Given the description of an element on the screen output the (x, y) to click on. 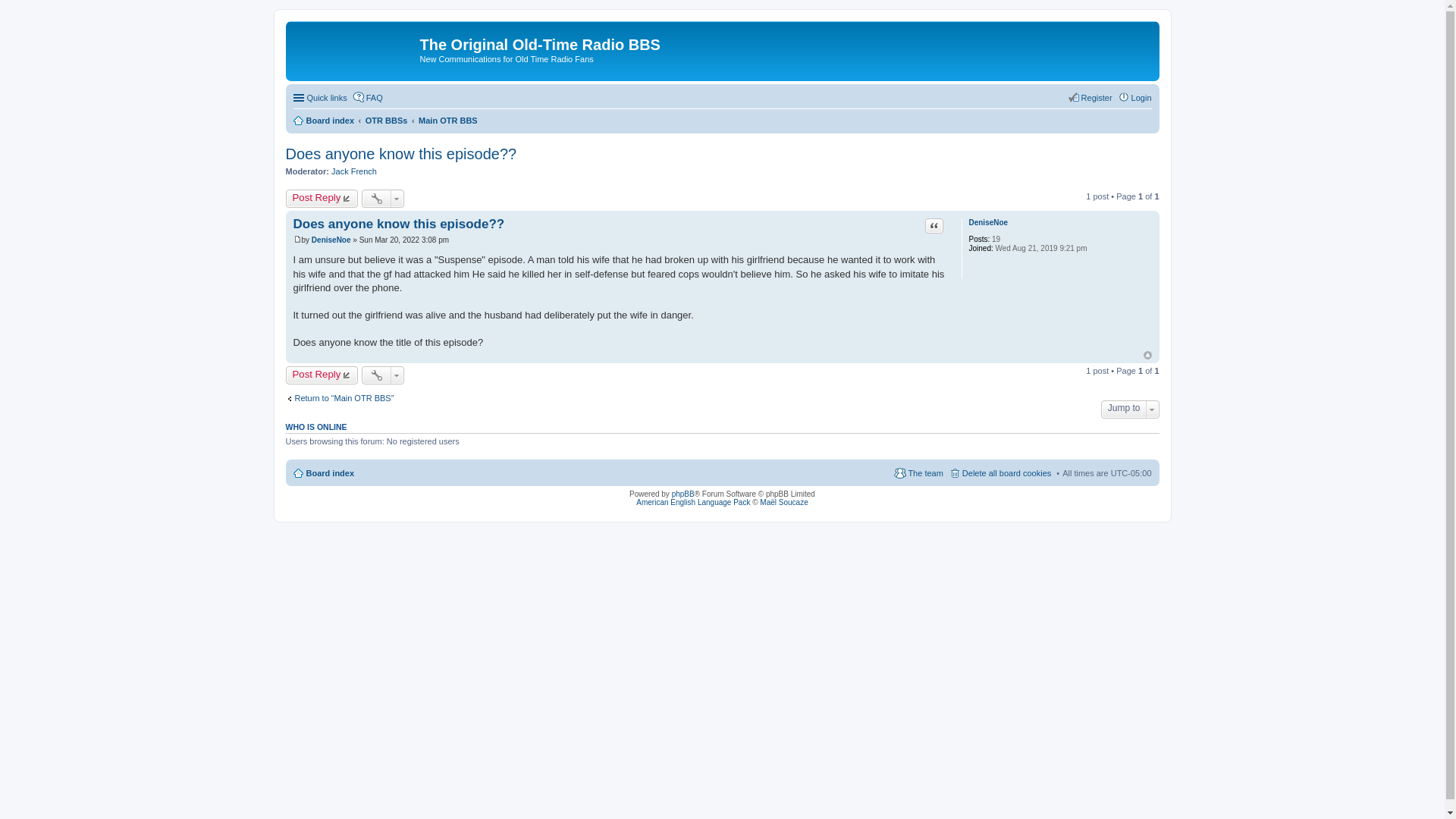
FAQ (367, 97)
Board index (354, 49)
Login (1134, 97)
Top (1146, 355)
OTR BBSs (386, 120)
Topic tools (382, 198)
Post Reply (321, 198)
Top (1146, 355)
Post a reply (321, 198)
Board index (322, 120)
Post a reply (321, 375)
Board index (322, 473)
Jump to (1129, 409)
Frequently Asked Questions (367, 97)
UTC-5 (1130, 472)
